Given the description of an element on the screen output the (x, y) to click on. 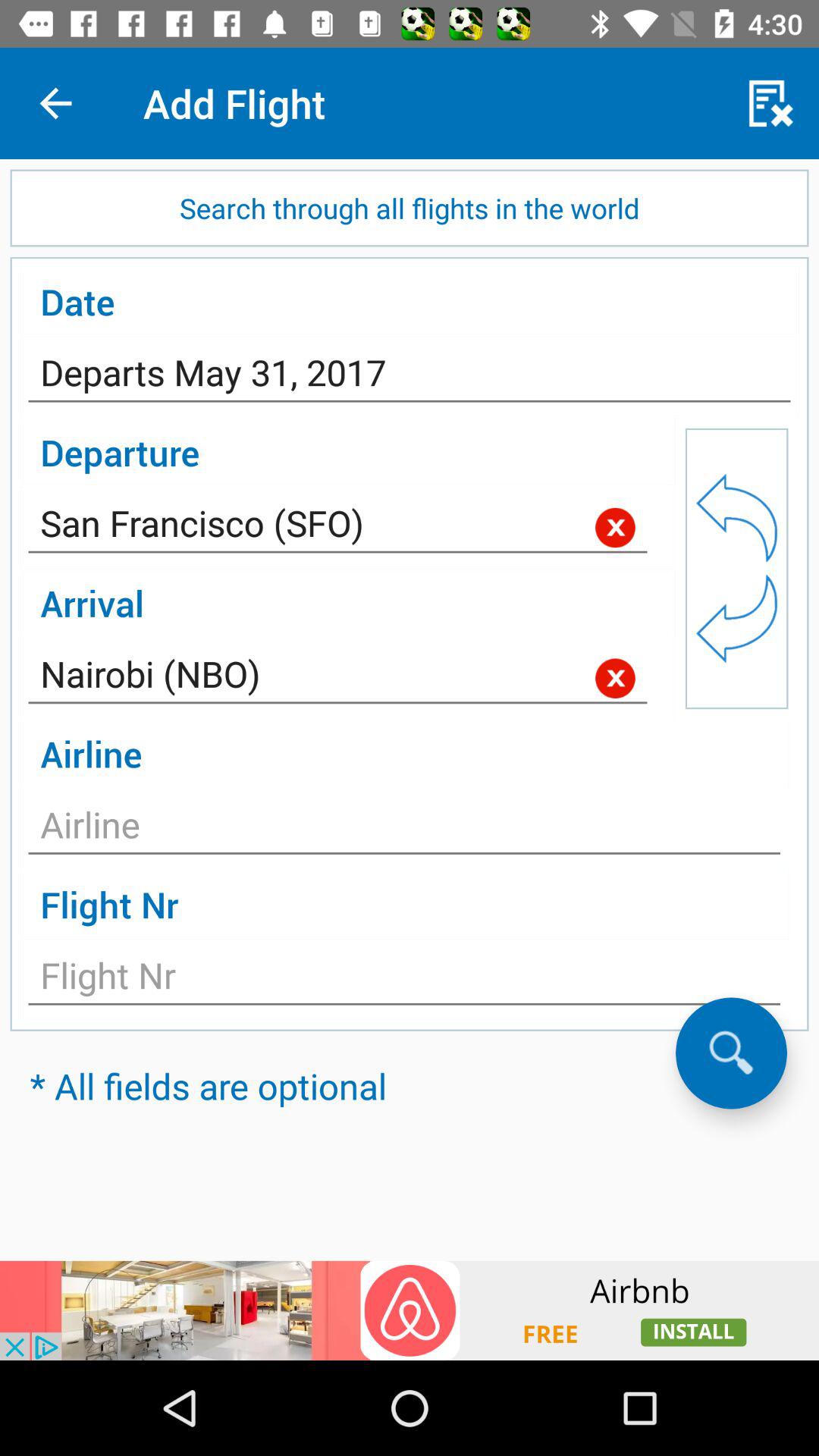
flight selection option (404, 979)
